Given the description of an element on the screen output the (x, y) to click on. 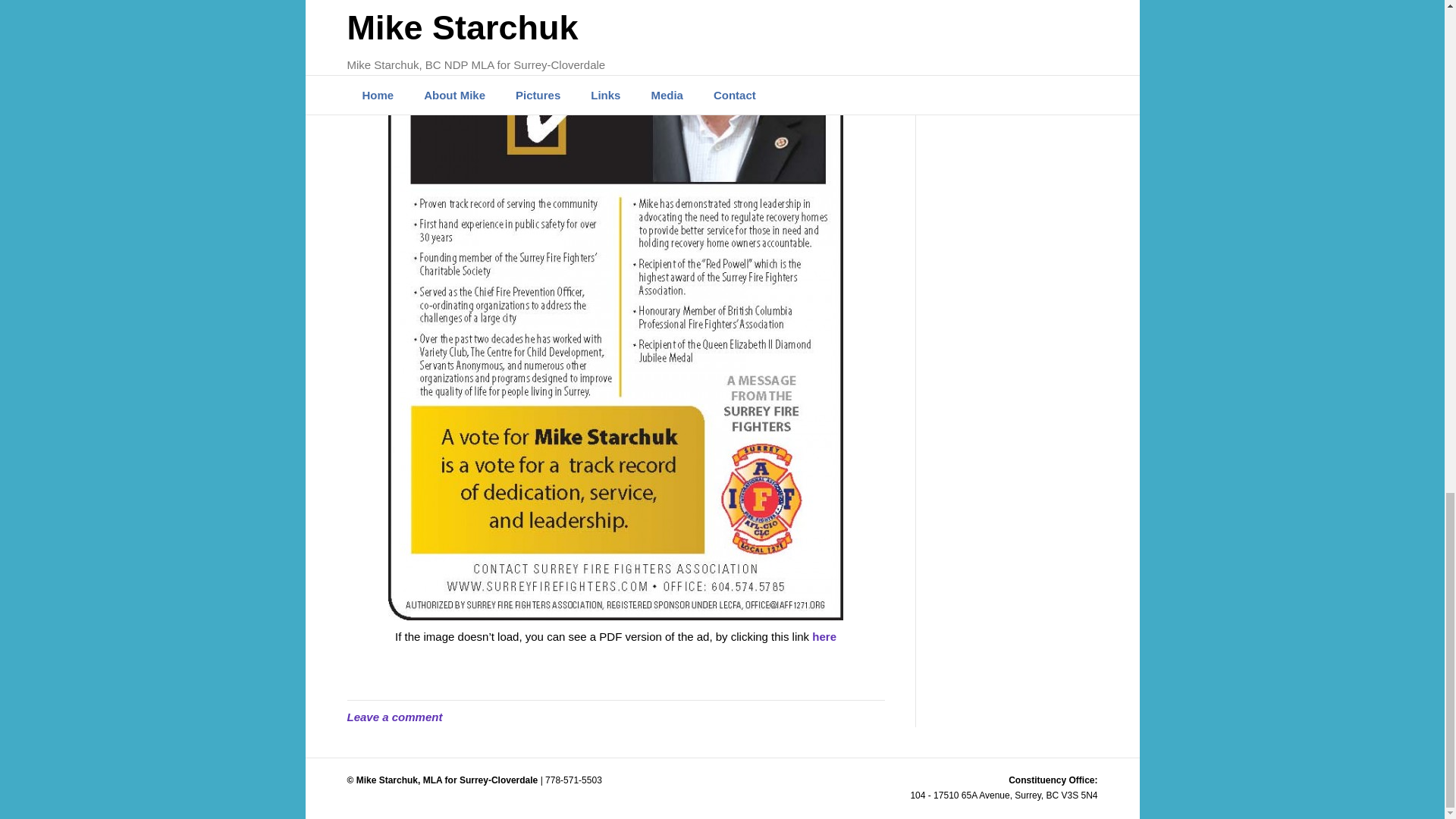
here (823, 635)
Leave a comment (394, 716)
